Given the description of an element on the screen output the (x, y) to click on. 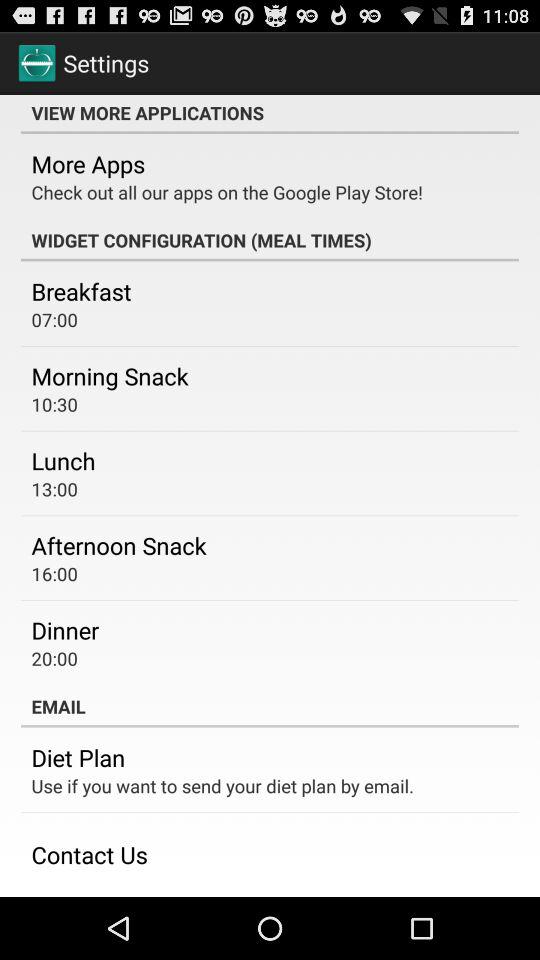
click the contact us item (89, 854)
